Given the description of an element on the screen output the (x, y) to click on. 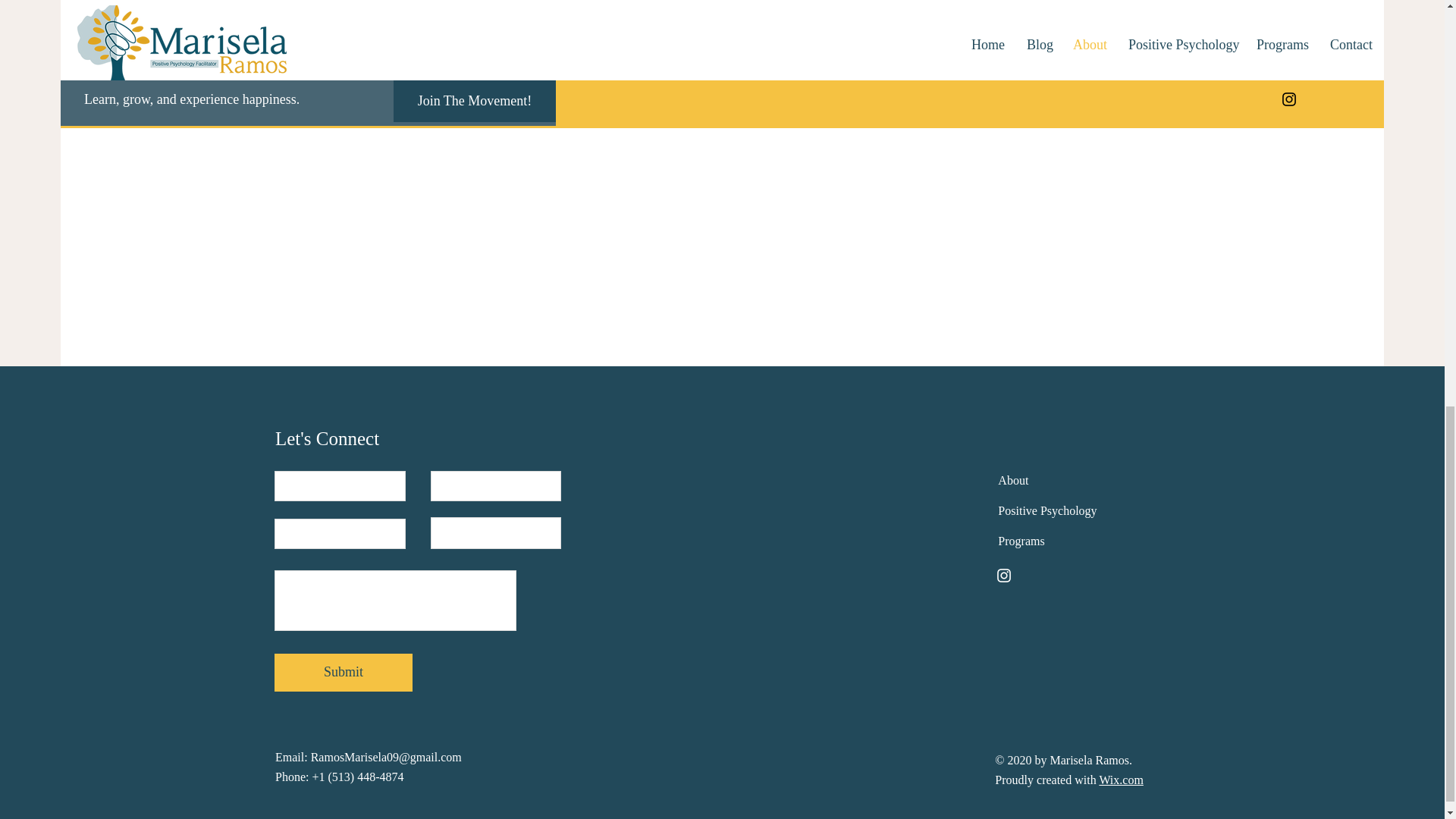
Wix.com (1120, 779)
Positive Psychology (1046, 510)
About (1012, 480)
Submit (343, 672)
Programs (1020, 540)
